Given the description of an element on the screen output the (x, y) to click on. 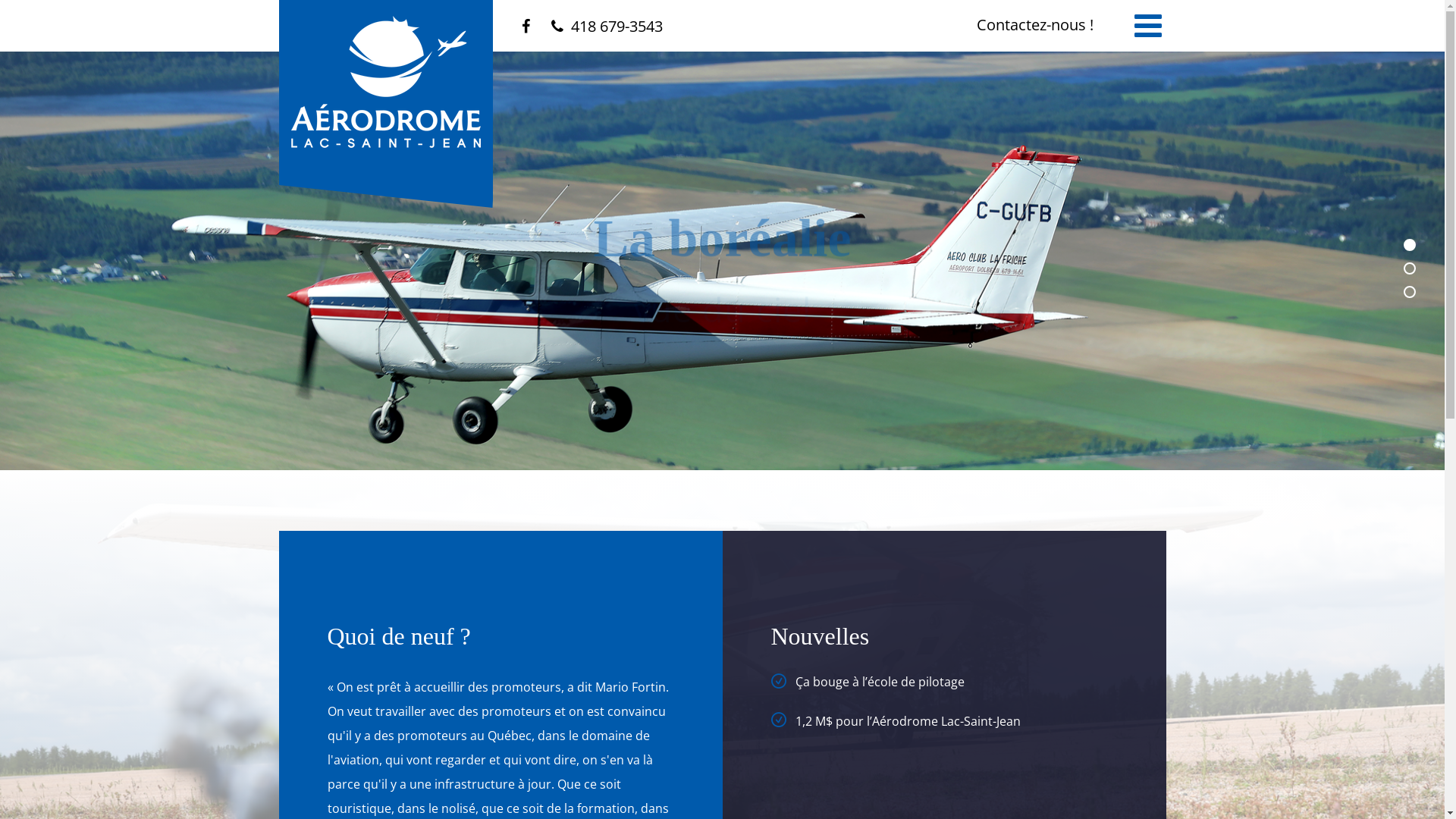
418 679-3543 Element type: text (606, 25)
Contactez-nous ! Element type: text (1034, 24)
